Given the description of an element on the screen output the (x, y) to click on. 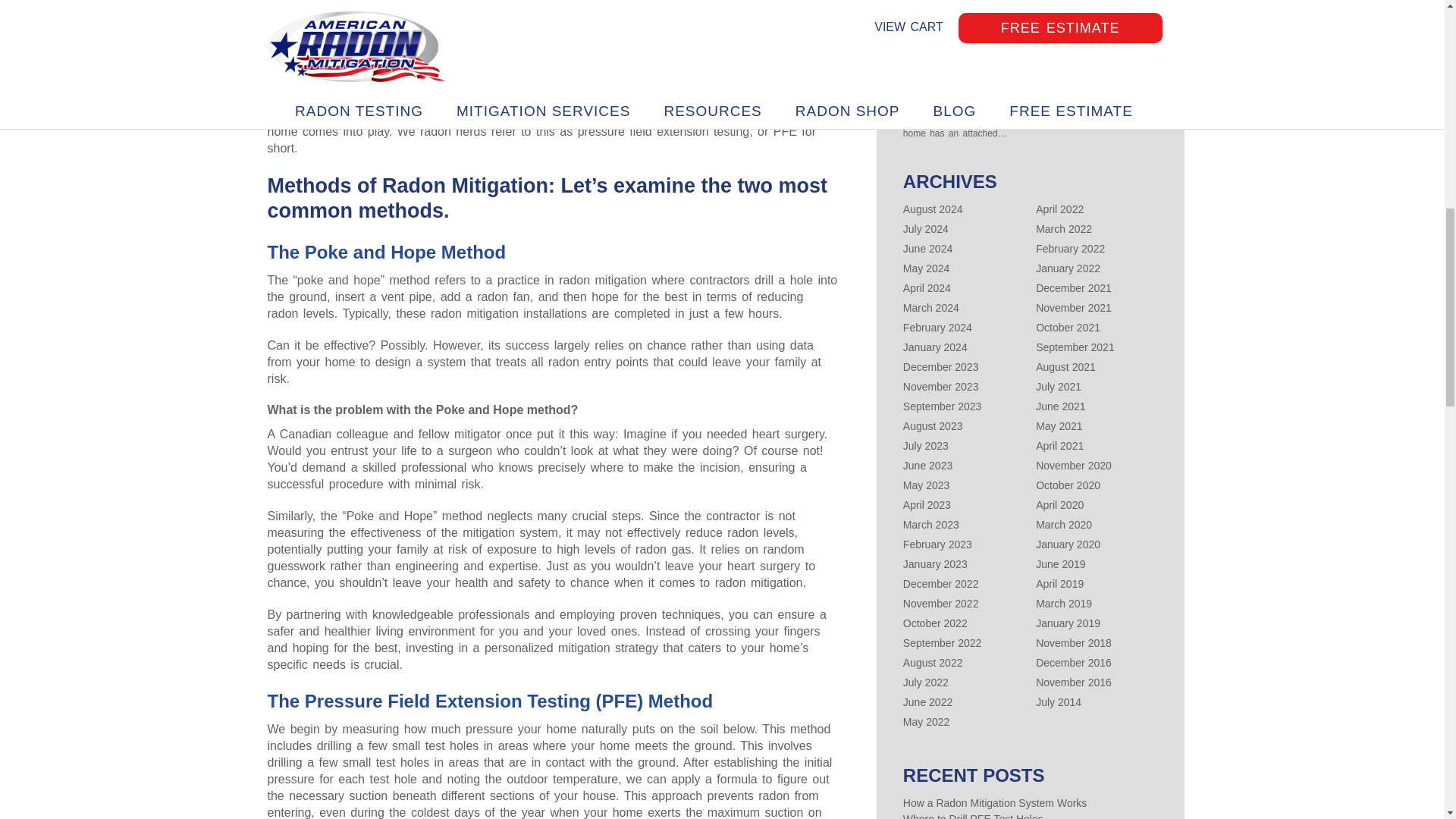
Identifying Radon Mitigation Challenges (1030, 24)
June 2024 (927, 248)
July 2024 (925, 228)
August 2024 (932, 209)
